Given the description of an element on the screen output the (x, y) to click on. 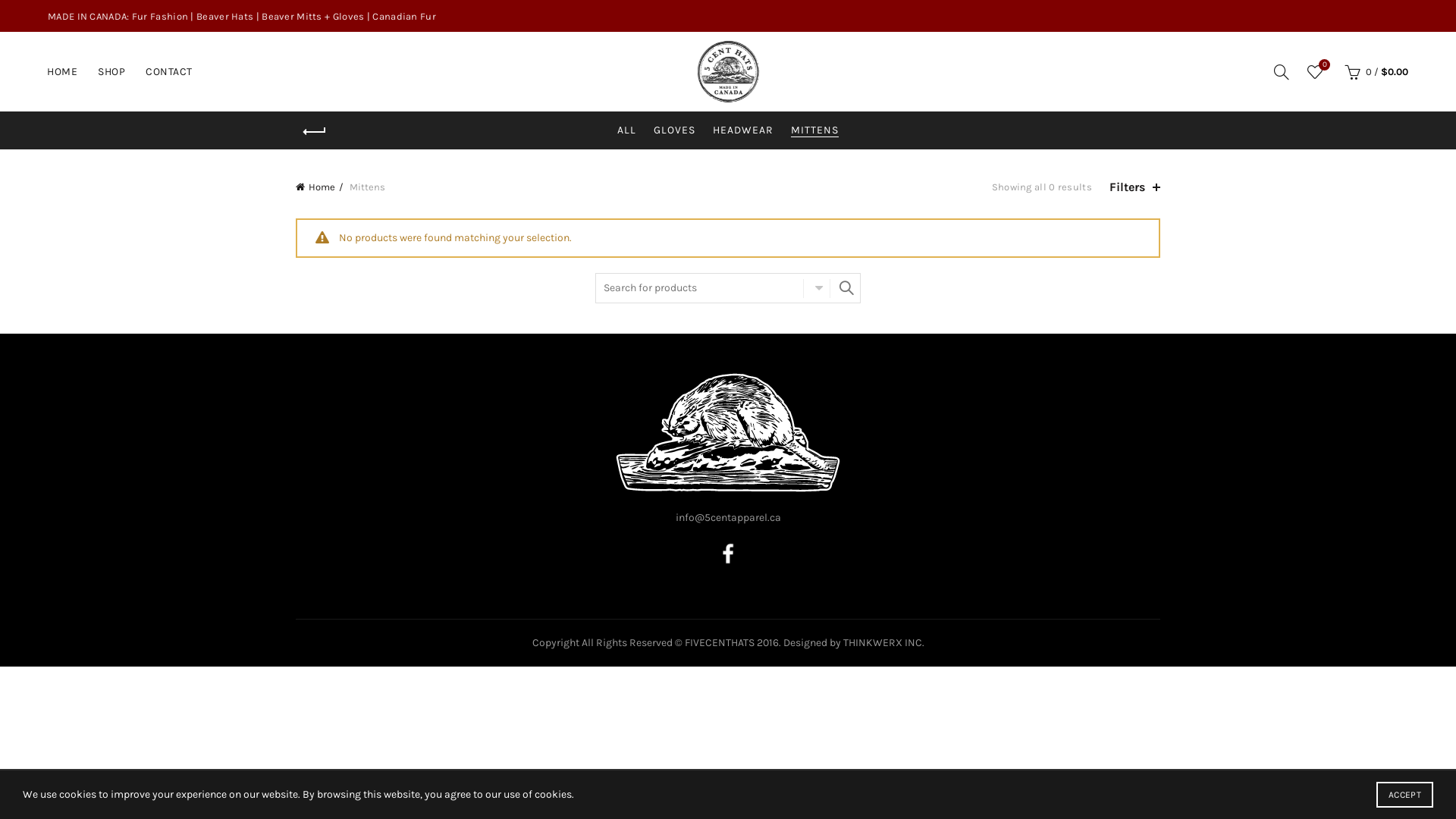
SHOP Element type: text (110, 71)
Home Element type: text (319, 186)
0 / $0.00 Element type: text (1374, 71)
Wishlist
0 Element type: text (1314, 71)
ACCEPT Element type: text (1404, 794)
HEADWEAR Element type: text (743, 130)
SELECT CATEGORY Element type: text (816, 287)
info@5centapparel.ca Element type: text (727, 517)
SEARCH Element type: text (845, 288)
MITTENS Element type: text (814, 130)
ALL Element type: text (626, 130)
HOME Element type: text (62, 71)
GLOVES Element type: text (674, 130)
Filters Element type: text (1134, 186)
Back Element type: text (314, 131)
CONTACT Element type: text (168, 71)
